Given the description of an element on the screen output the (x, y) to click on. 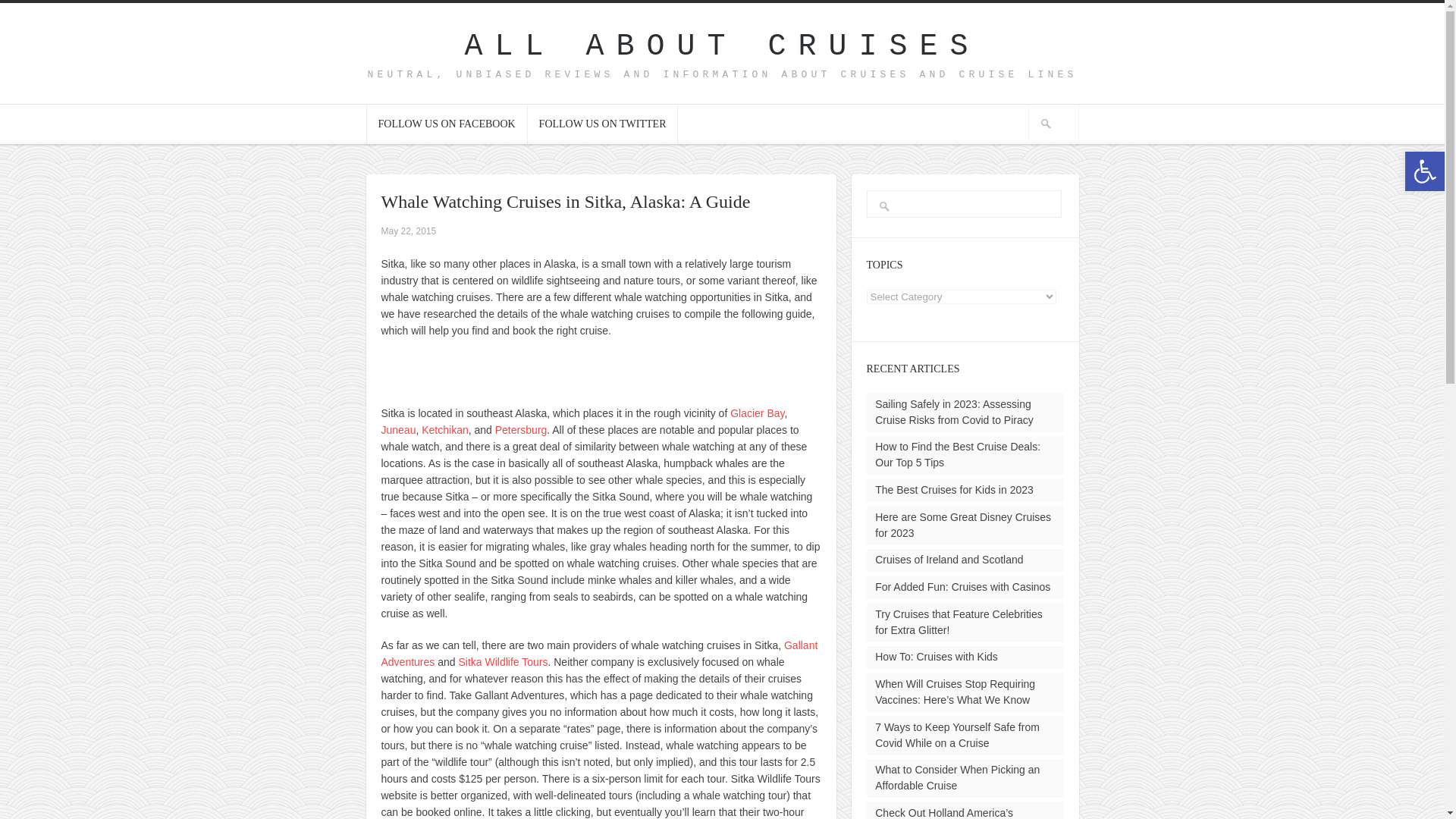
Here are Some Great Disney Cruises for 2023 (963, 524)
For Added Fun: Cruises with Casinos (962, 586)
Glacier Bay (757, 413)
Gallant Adventures (598, 653)
What to Consider When Picking an Affordable Cruise (957, 777)
Juneau (397, 429)
FOLLOW US ON FACEBOOK (446, 124)
Try Cruises that Feature Celebrities for Extra Glitter! (958, 622)
Ketchikan (444, 429)
Petersburg (521, 429)
